Given the description of an element on the screen output the (x, y) to click on. 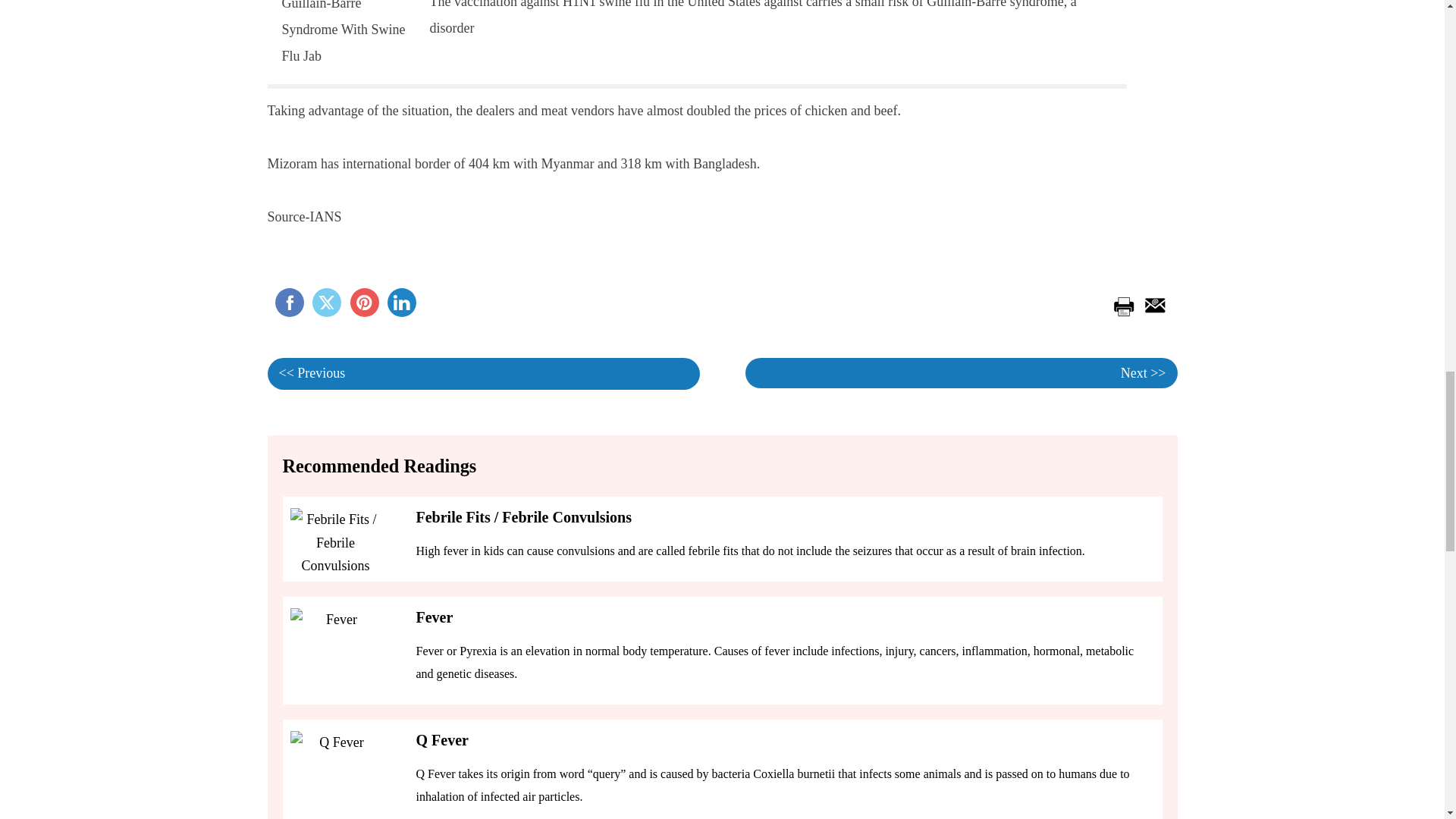
Print This Page (1121, 302)
Small Risk of Guillain-Barre Syndrome With Swine Flu Jab (344, 34)
Pinterest (364, 302)
Facebook (288, 302)
Twitter (326, 302)
Twitter (326, 302)
Linkedin (401, 302)
Facebook (288, 302)
Email This (1152, 302)
Pinterest (364, 302)
Linkedin (401, 302)
